Given the description of an element on the screen output the (x, y) to click on. 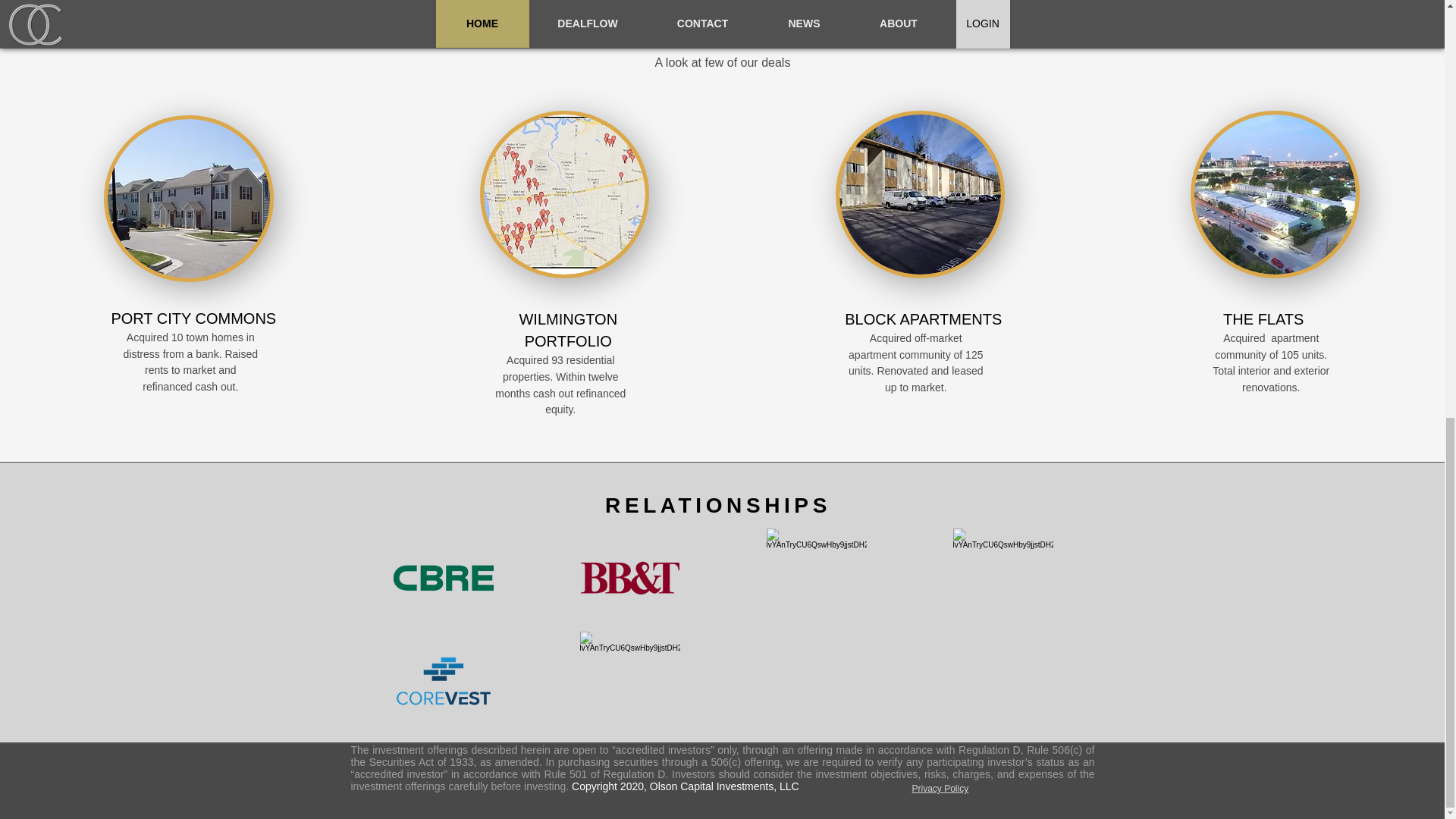
purepng.com-fanniemae-logologobrand-logo (629, 681)
Privacy Policy (939, 787)
marcus-and-millichap-squarelogo-15345501 (815, 578)
lvYAnTryCU6QswHby9jjstDH2561494914924223 (1002, 578)
